Given the description of an element on the screen output the (x, y) to click on. 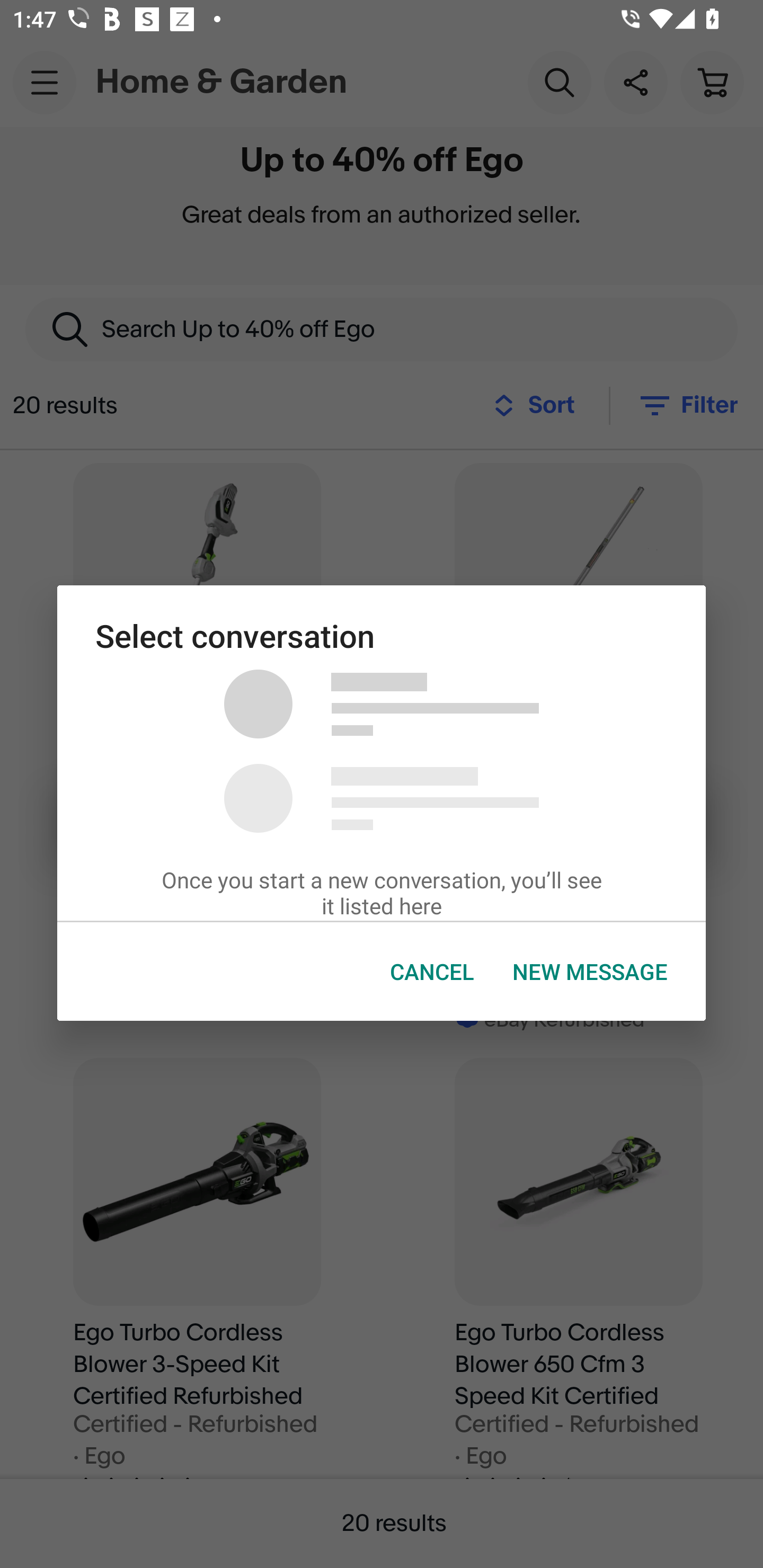
CANCEL (431, 971)
NEW MESSAGE (589, 971)
